Given the description of an element on the screen output the (x, y) to click on. 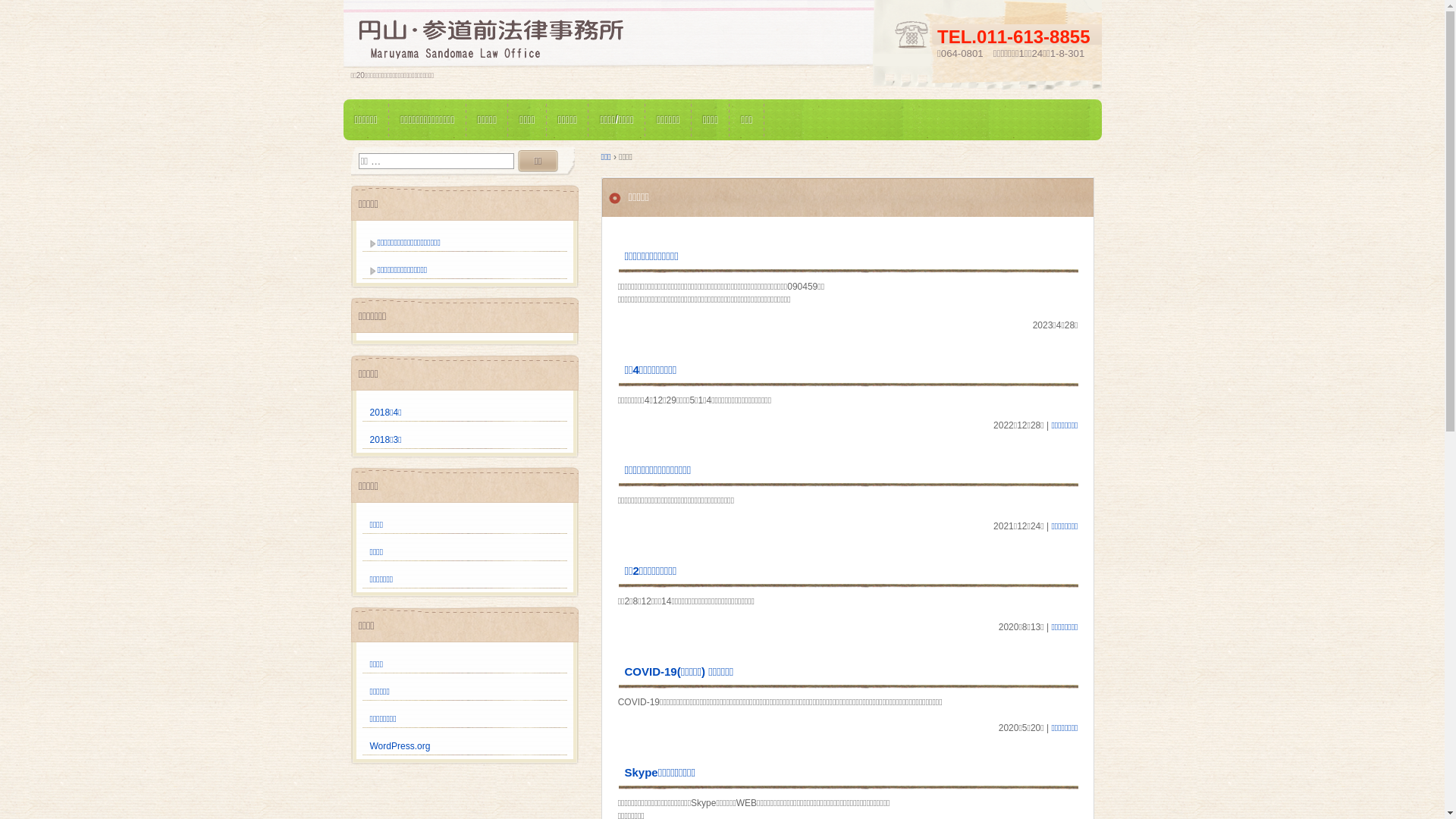
WordPress.org Element type: text (400, 745)
